Given the description of an element on the screen output the (x, y) to click on. 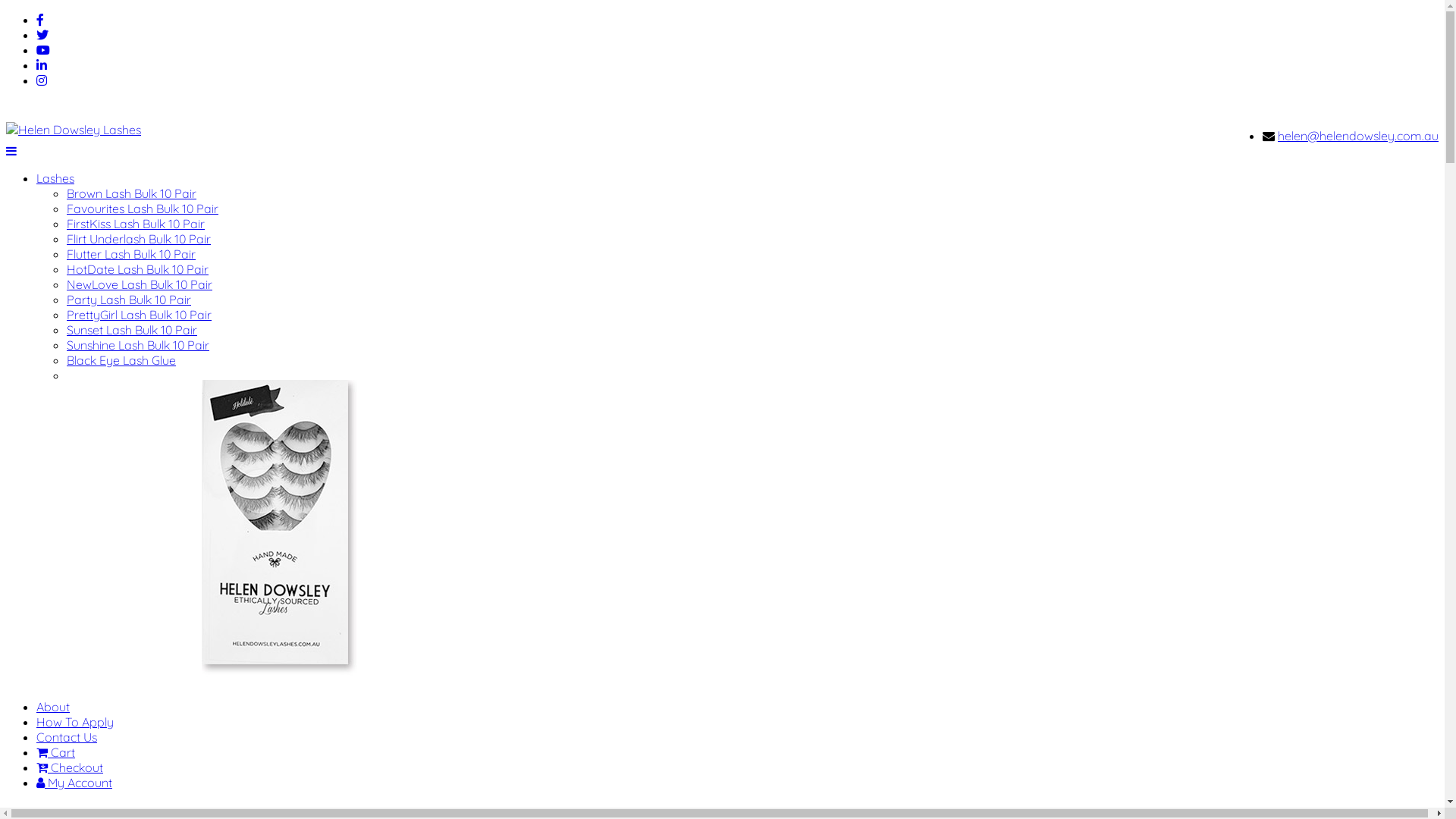
Cart Element type: text (55, 751)
FirstKiss Lash Bulk 10 Pair Element type: text (135, 223)
Favourites Lash Bulk 10 Pair Element type: text (142, 208)
My Account Element type: text (74, 782)
Sunset Lash Bulk 10 Pair Element type: text (131, 329)
About Element type: text (52, 706)
PrettyGirl Lash Bulk 10 Pair Element type: text (138, 314)
Sunshine Lash Bulk 10 Pair Element type: text (137, 344)
Navigation Element type: hover (11, 150)
Brown Lash Bulk 10 Pair Element type: text (131, 192)
Party Lash Bulk 10 Pair Element type: text (128, 299)
Flutter Lash Bulk 10 Pair Element type: text (130, 253)
How To Apply Element type: text (74, 721)
Contact Us Element type: text (66, 736)
Lashes Element type: text (55, 177)
helen@helendowsley.com.au Element type: text (1357, 135)
HotDate Lash Bulk 10 Pair Element type: text (137, 268)
NewLove Lash Bulk 10 Pair Element type: text (139, 283)
Black Eye Lash Glue Element type: text (120, 359)
Flirt Underlash Bulk 10 Pair Element type: text (138, 238)
Checkout Element type: text (69, 767)
